Given the description of an element on the screen output the (x, y) to click on. 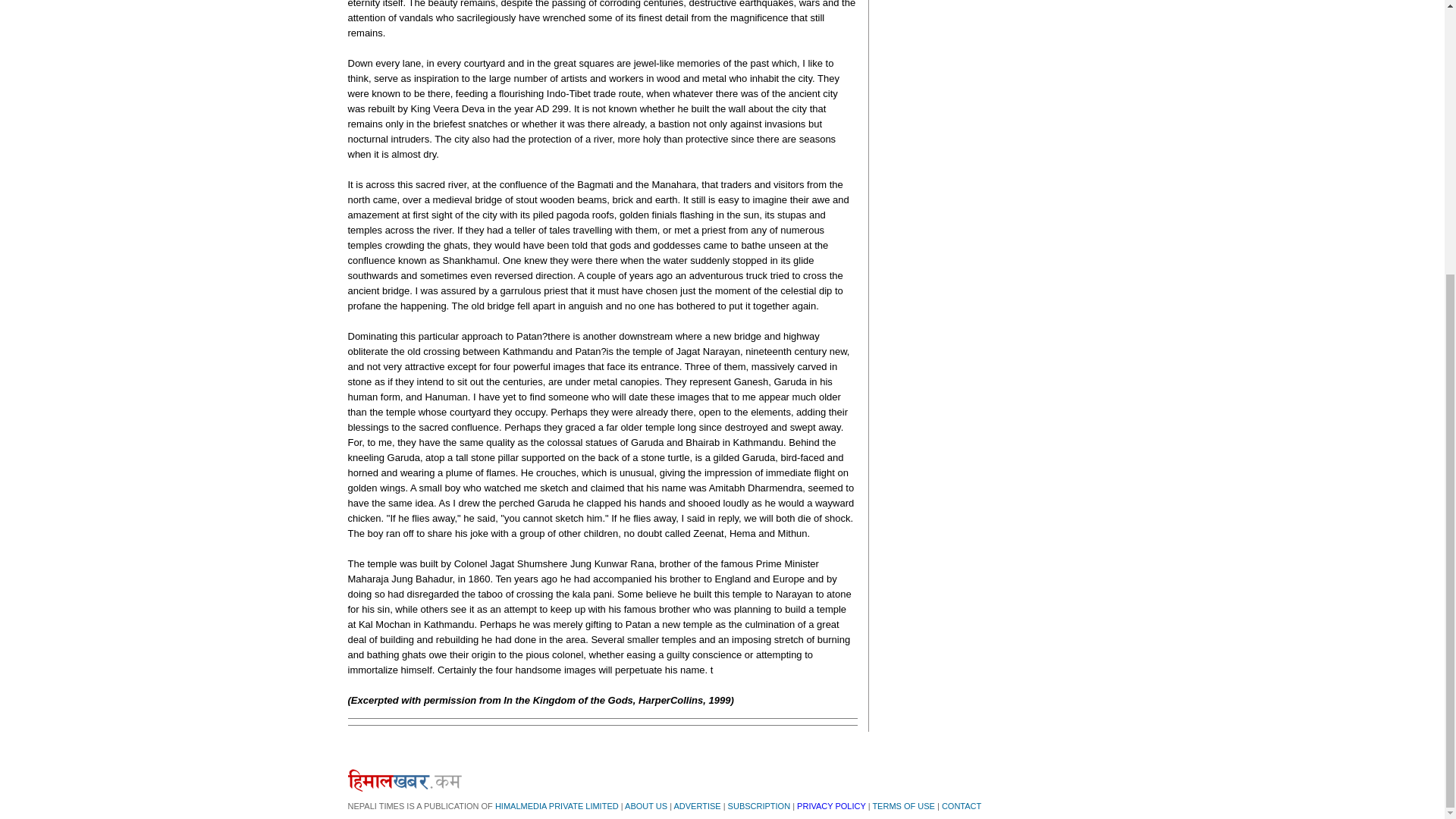
SUBSCRIPTION (759, 805)
HIMALMEDIA PRIVATE LIMITED (556, 805)
CONTACT (961, 805)
ADVERTISE (696, 805)
TERMS OF USE (903, 805)
ABOUT US (645, 805)
PRIVACY POLICY (830, 805)
himalkhabar.com (404, 780)
